Given the description of an element on the screen output the (x, y) to click on. 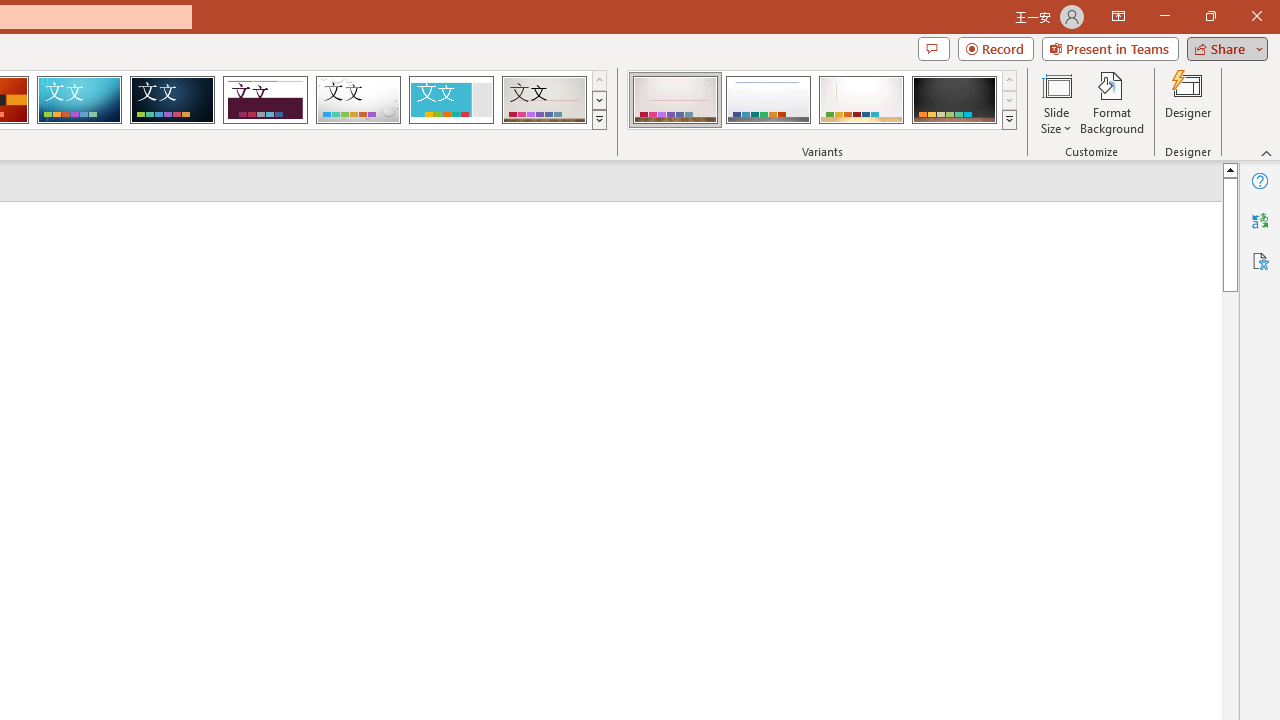
Variants (1009, 120)
Format Background (1111, 102)
